Given the description of an element on the screen output the (x, y) to click on. 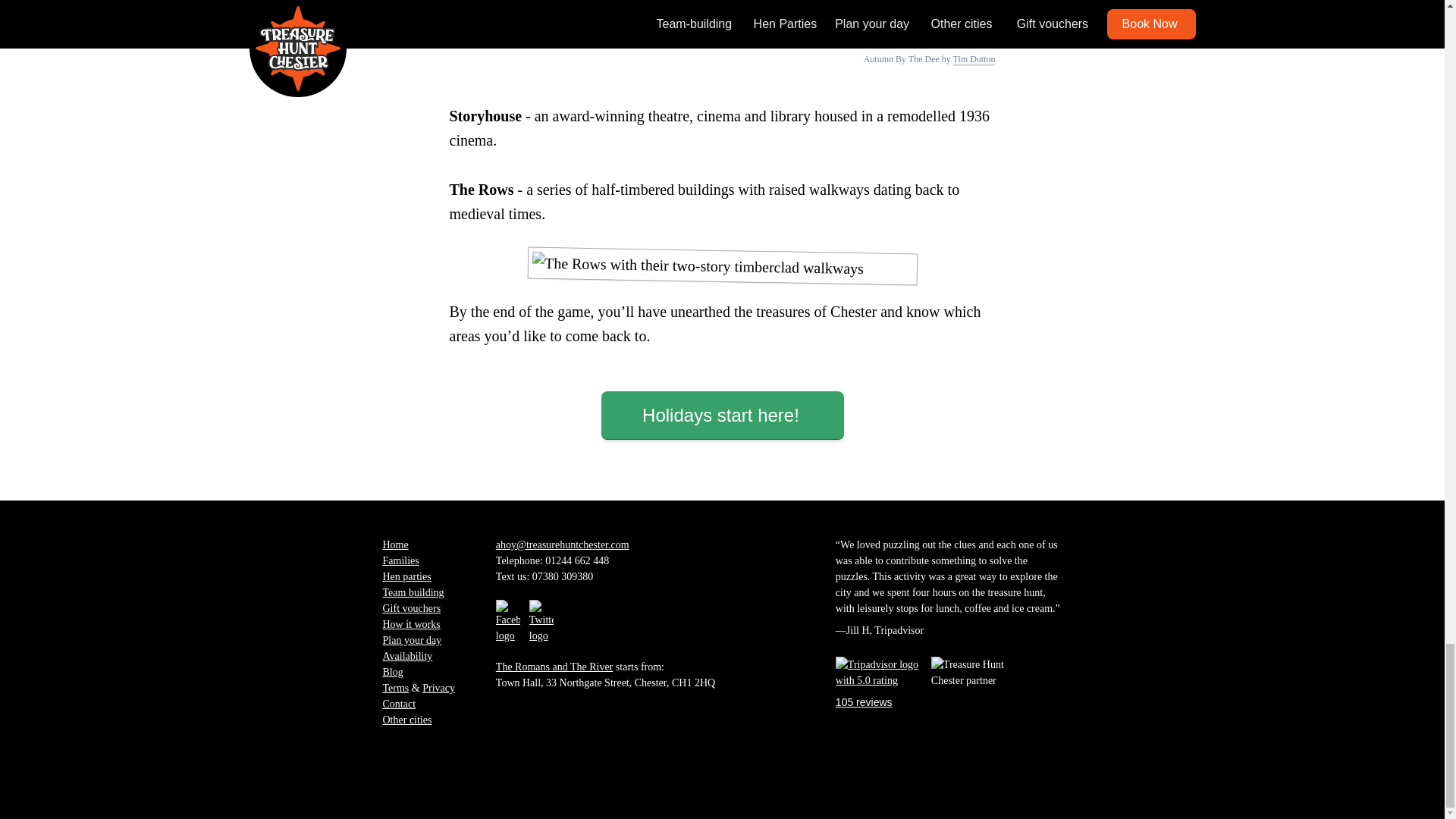
The Romans and The River (554, 666)
Blog (392, 672)
Team building (412, 592)
07380 309380 (563, 576)
Home (394, 544)
Terms (395, 687)
Hen parties (405, 576)
Other cities (405, 719)
Gift vouchers (411, 608)
How it works (410, 624)
